Given the description of an element on the screen output the (x, y) to click on. 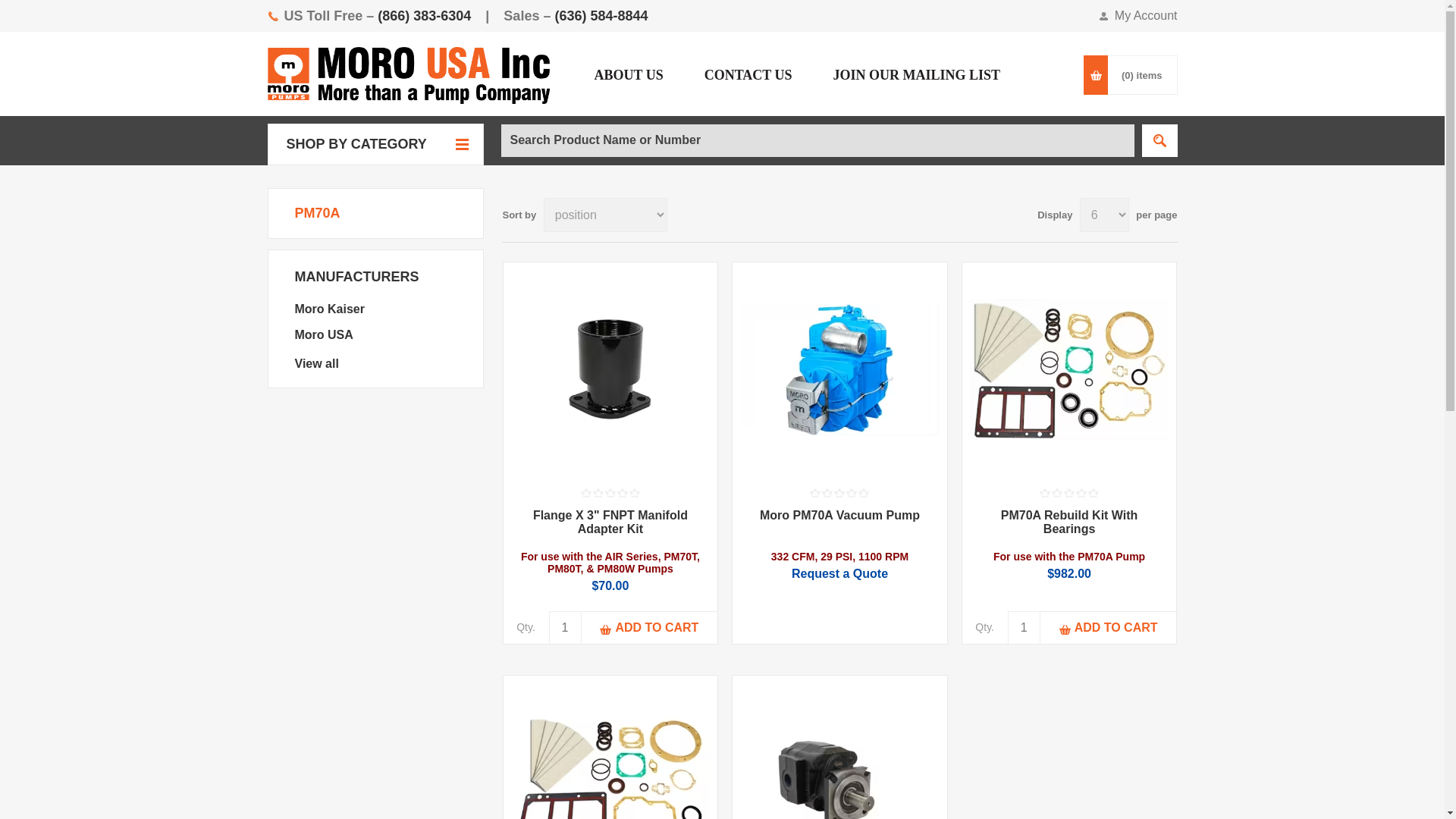
CONTACT US (748, 75)
Contact Us (748, 75)
Join Our Mailing List (917, 75)
1 (1024, 626)
ABOUT US (627, 75)
About Us (627, 75)
JOIN OUR MAILING LIST (917, 75)
1 (564, 626)
